Given the description of an element on the screen output the (x, y) to click on. 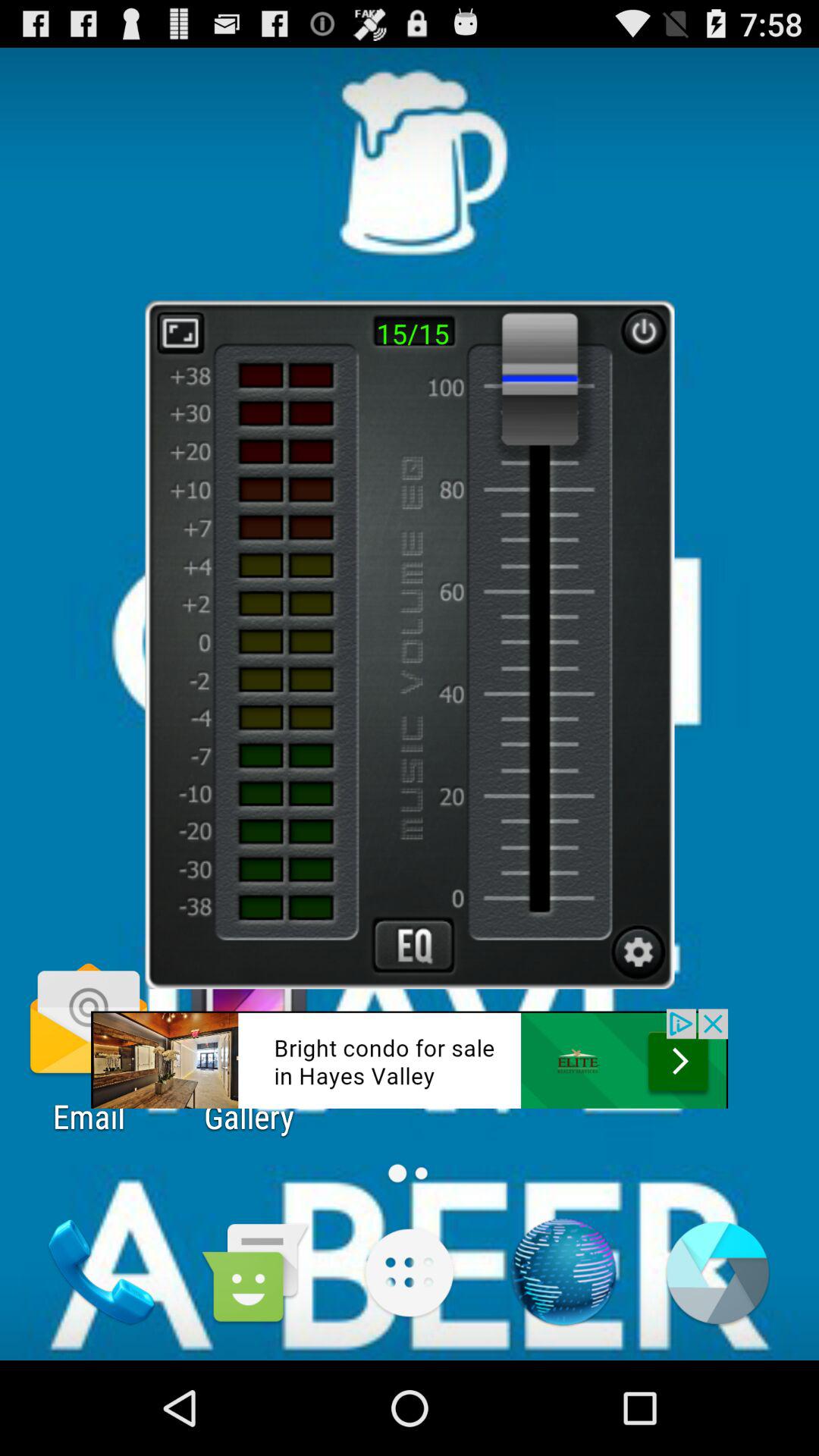
advertisement portion (409, 1058)
